Given the description of an element on the screen output the (x, y) to click on. 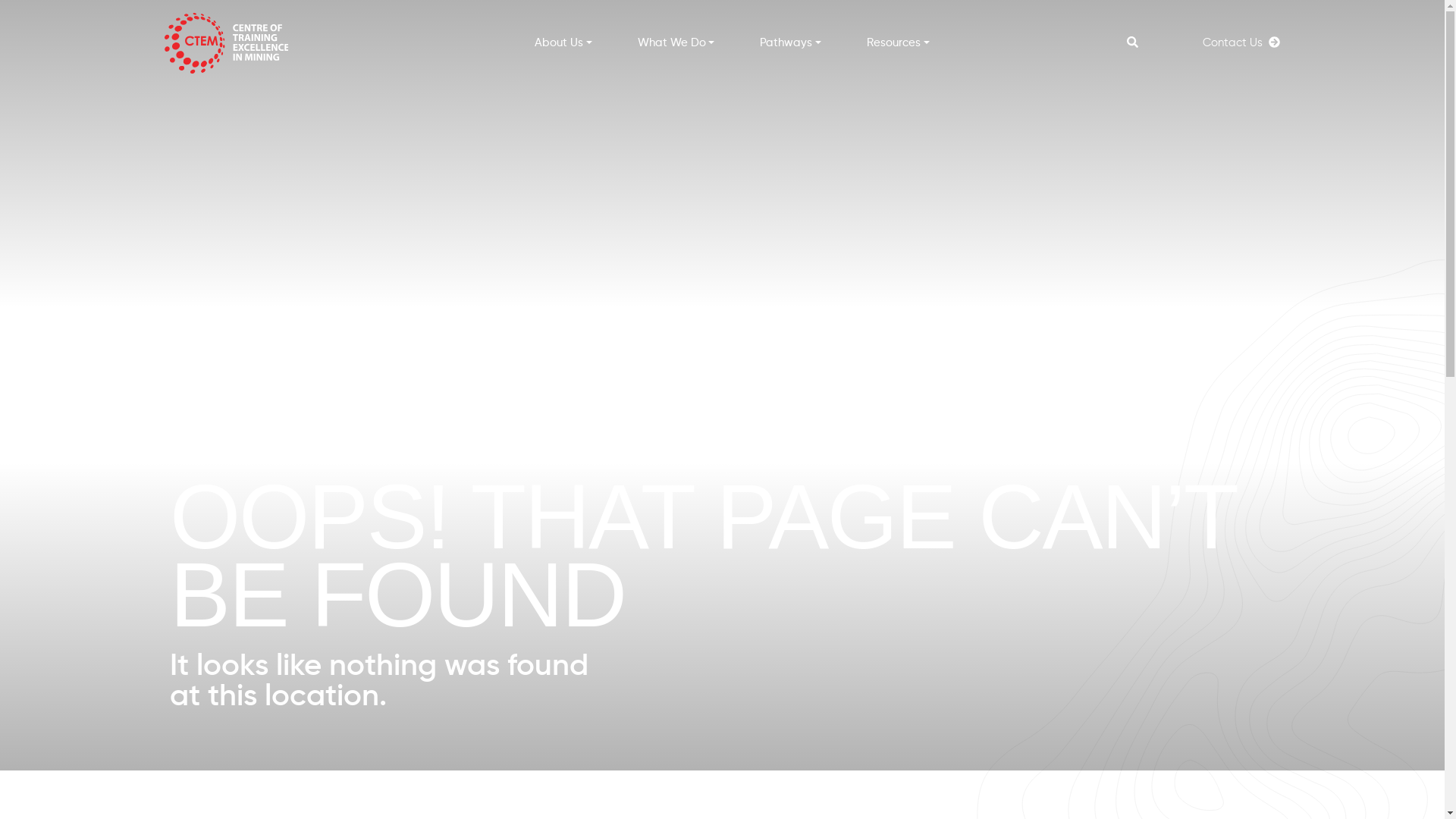
Resources Element type: text (898, 41)
Contact Us Element type: text (1241, 42)
Pathways Element type: text (790, 41)
About Us Element type: text (563, 41)
What We Do Element type: text (676, 41)
